Given the description of an element on the screen output the (x, y) to click on. 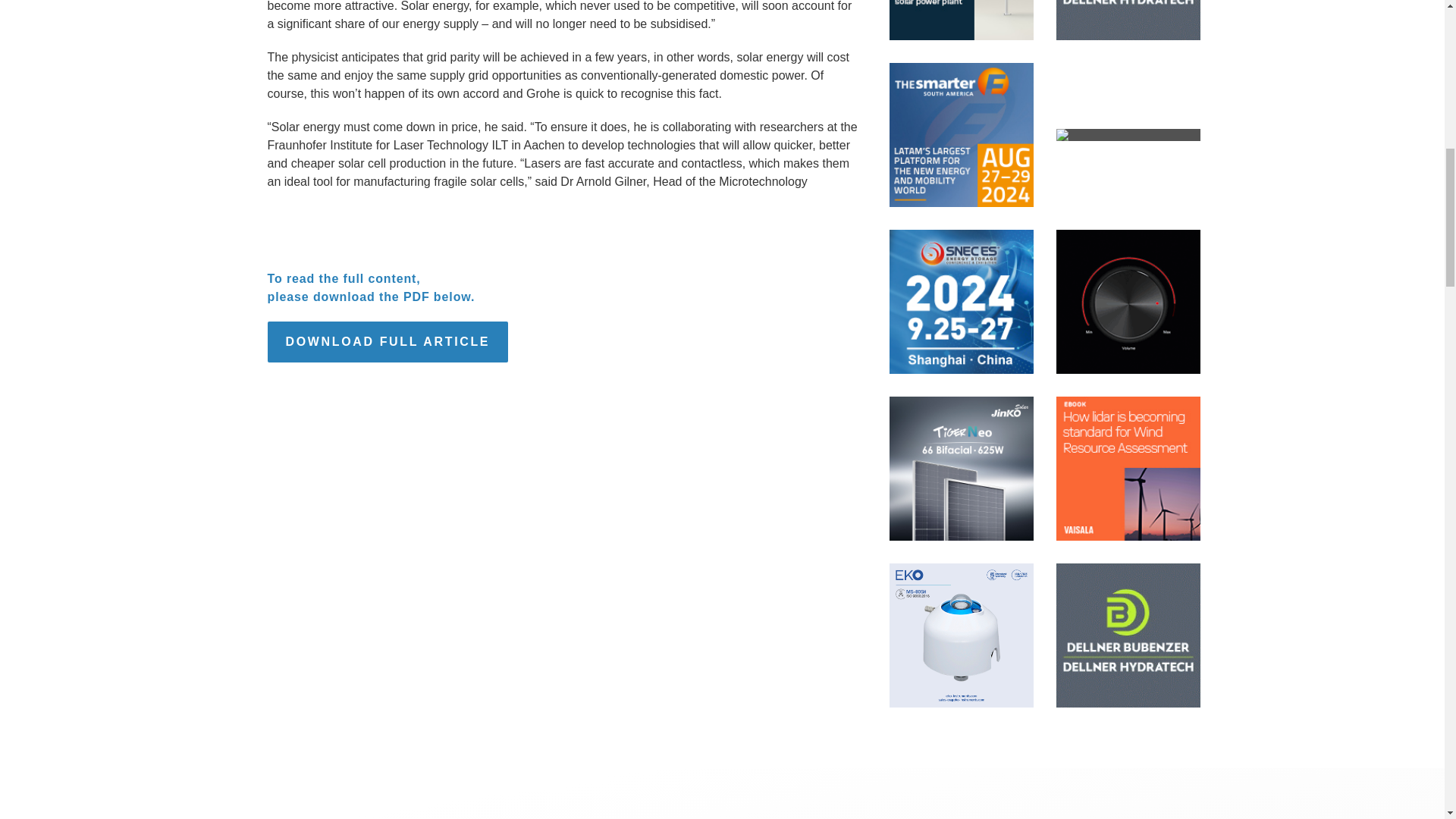
DOWNLOAD FULL ARTICLE (387, 341)
